Given the description of an element on the screen output the (x, y) to click on. 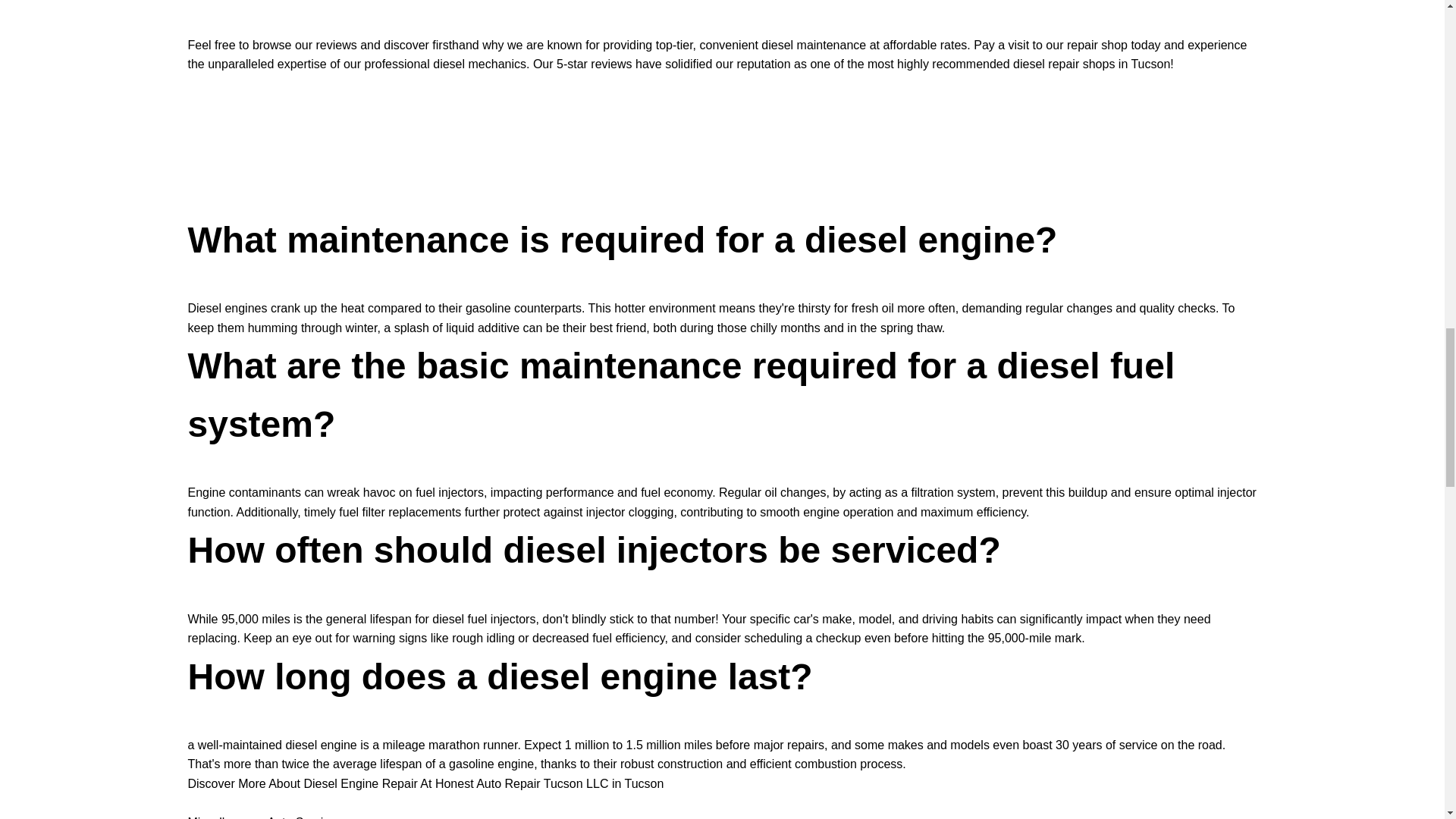
Miscellaneous Auto Services (264, 817)
